Given the description of an element on the screen output the (x, y) to click on. 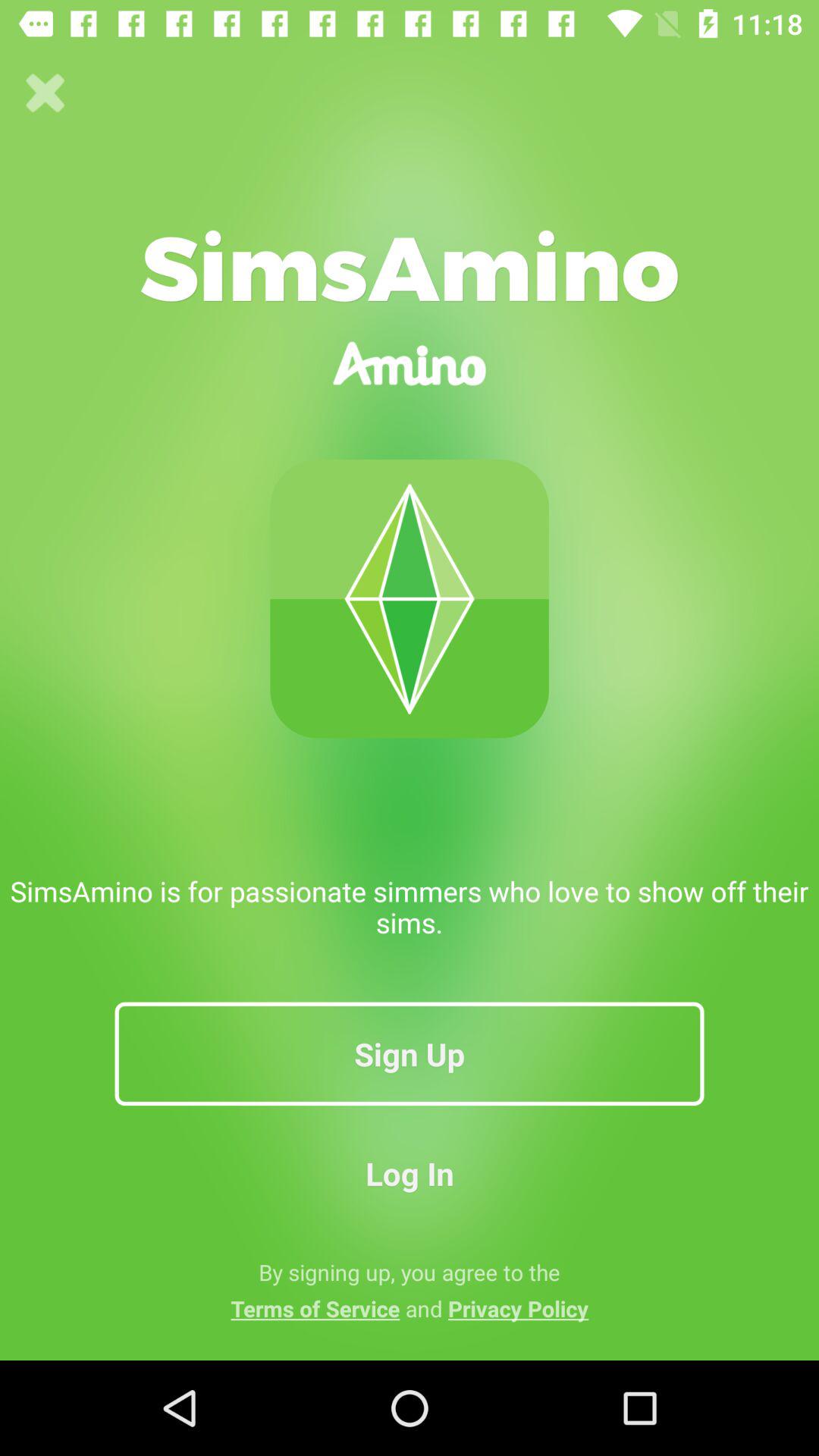
swipe to the log in (409, 1173)
